Given the description of an element on the screen output the (x, y) to click on. 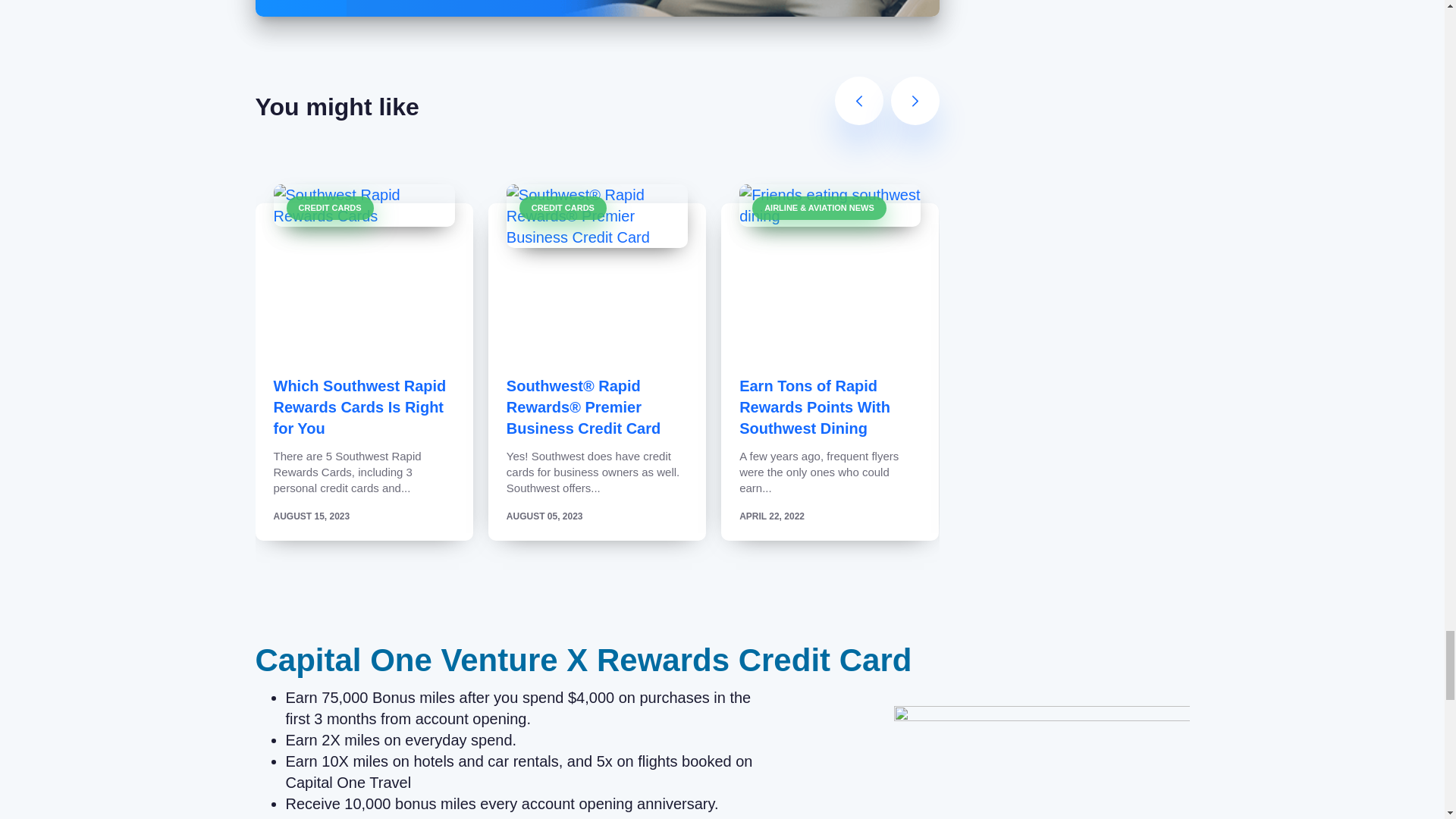
Earn Tons of Rapid Rewards Points With Southwest Dining 7 (829, 205)
Which Southwest Rapid Rewards Cards Is Right for You 5 (363, 205)
